Given the description of an element on the screen output the (x, y) to click on. 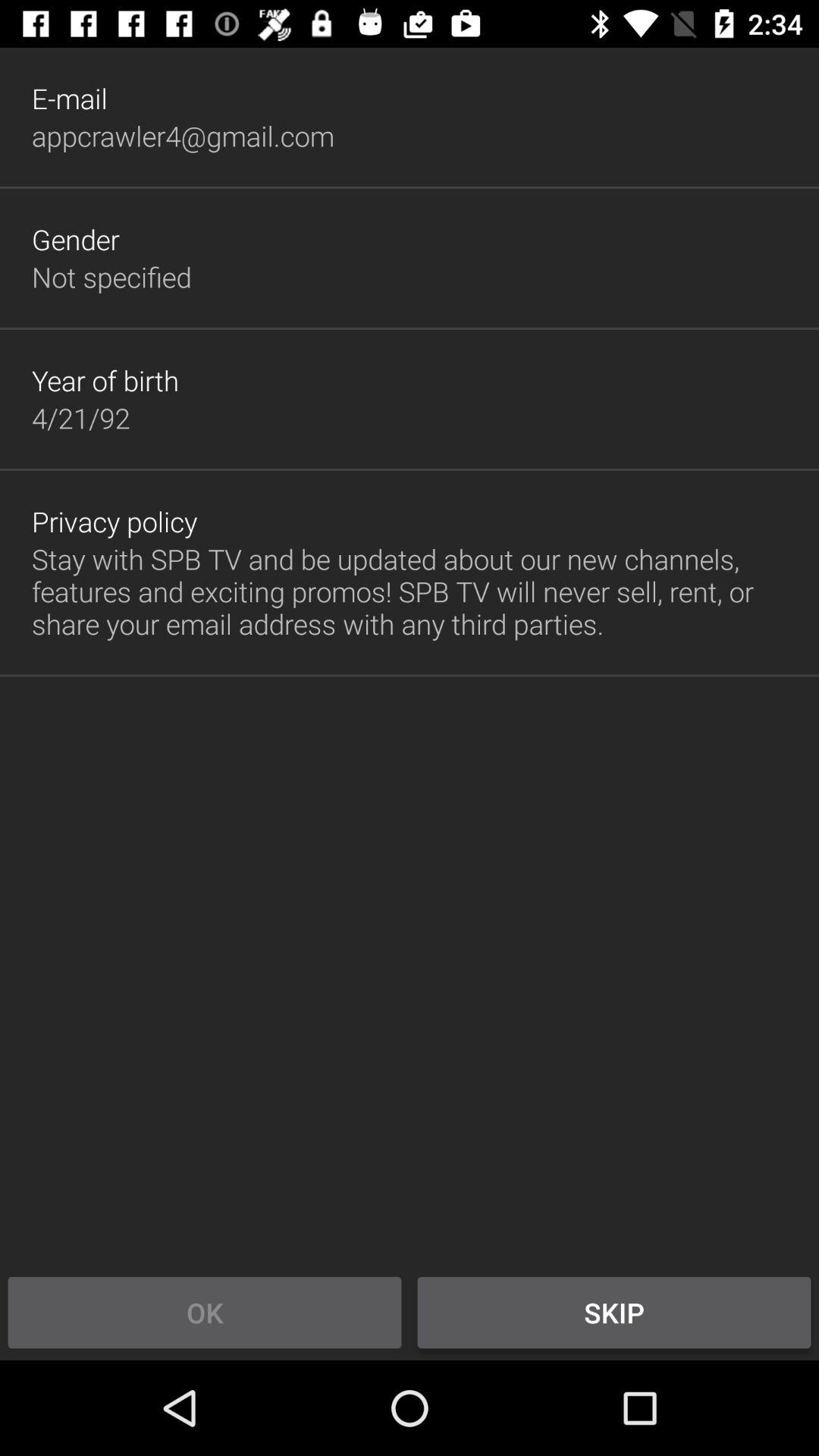
press app below stay with spb item (614, 1312)
